Given the description of an element on the screen output the (x, y) to click on. 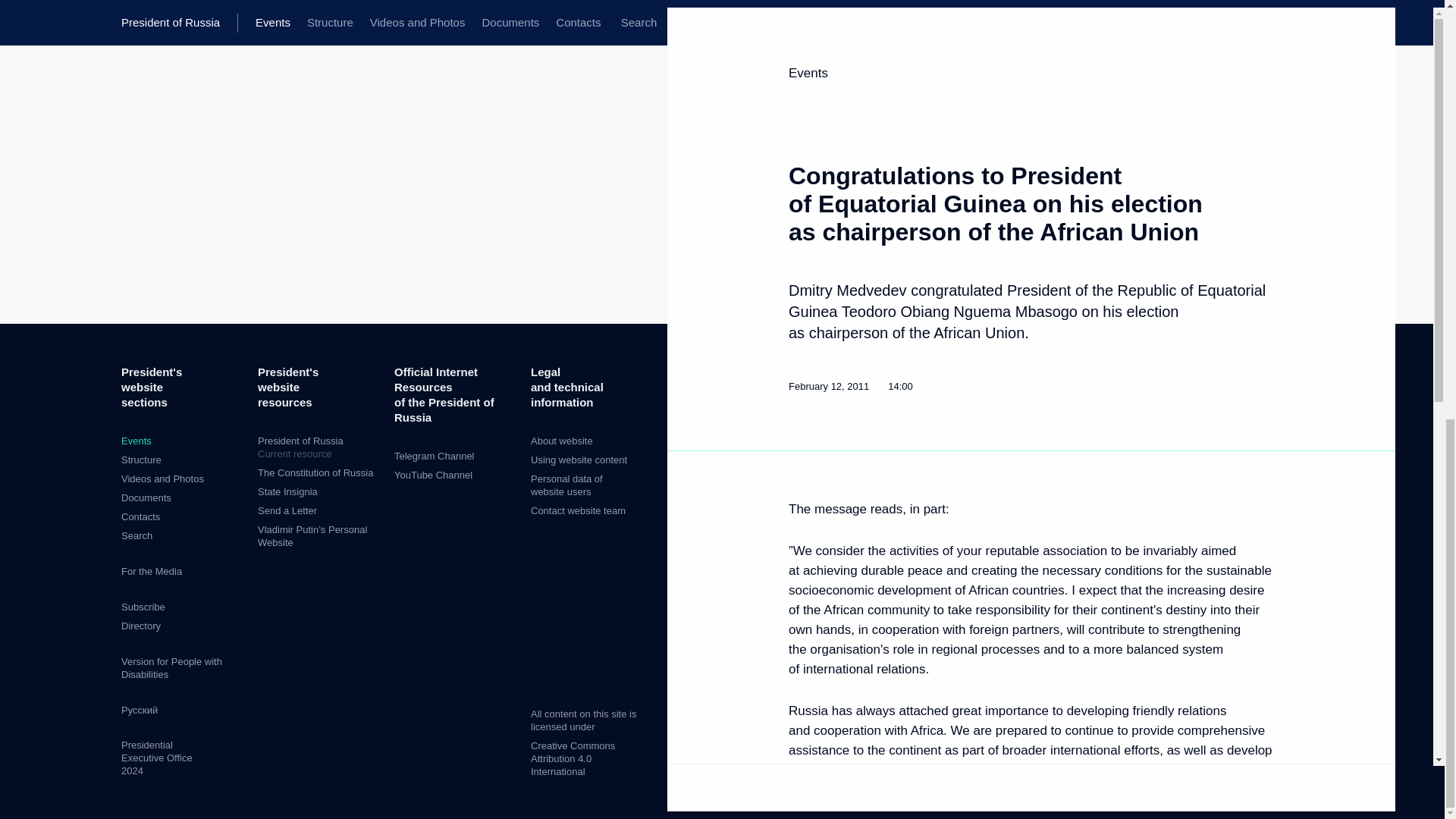
Structure (140, 460)
Subscribe (142, 606)
Personal data of website users (566, 485)
Foreign policy (1003, 384)
For the Media (151, 571)
Directory (140, 625)
Creative Commons Attribution 4.0 International (317, 447)
Send a Letter (572, 758)
State Insignia (287, 510)
